Given the description of an element on the screen output the (x, y) to click on. 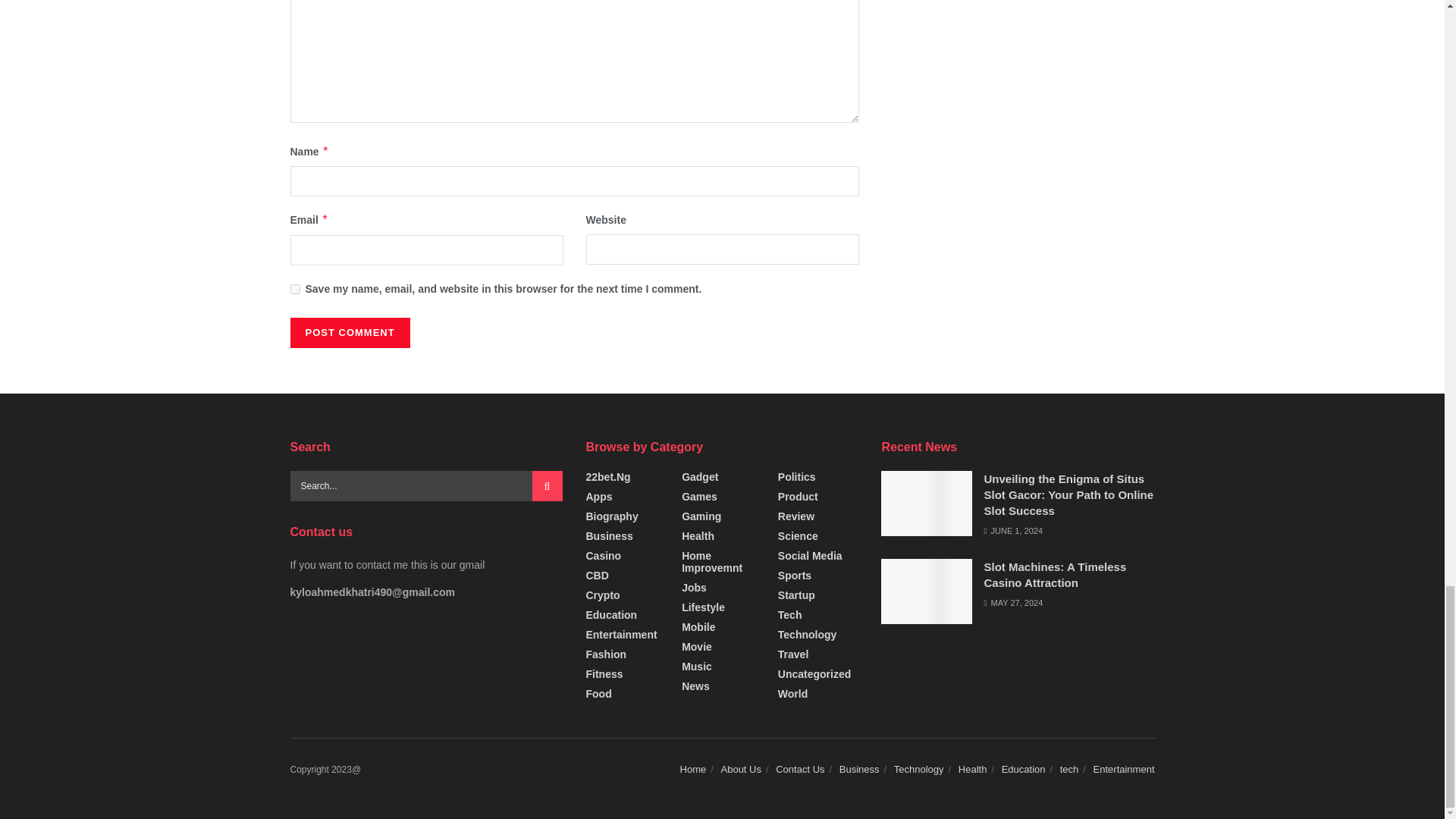
Post Comment (349, 332)
yes (294, 289)
